Given the description of an element on the screen output the (x, y) to click on. 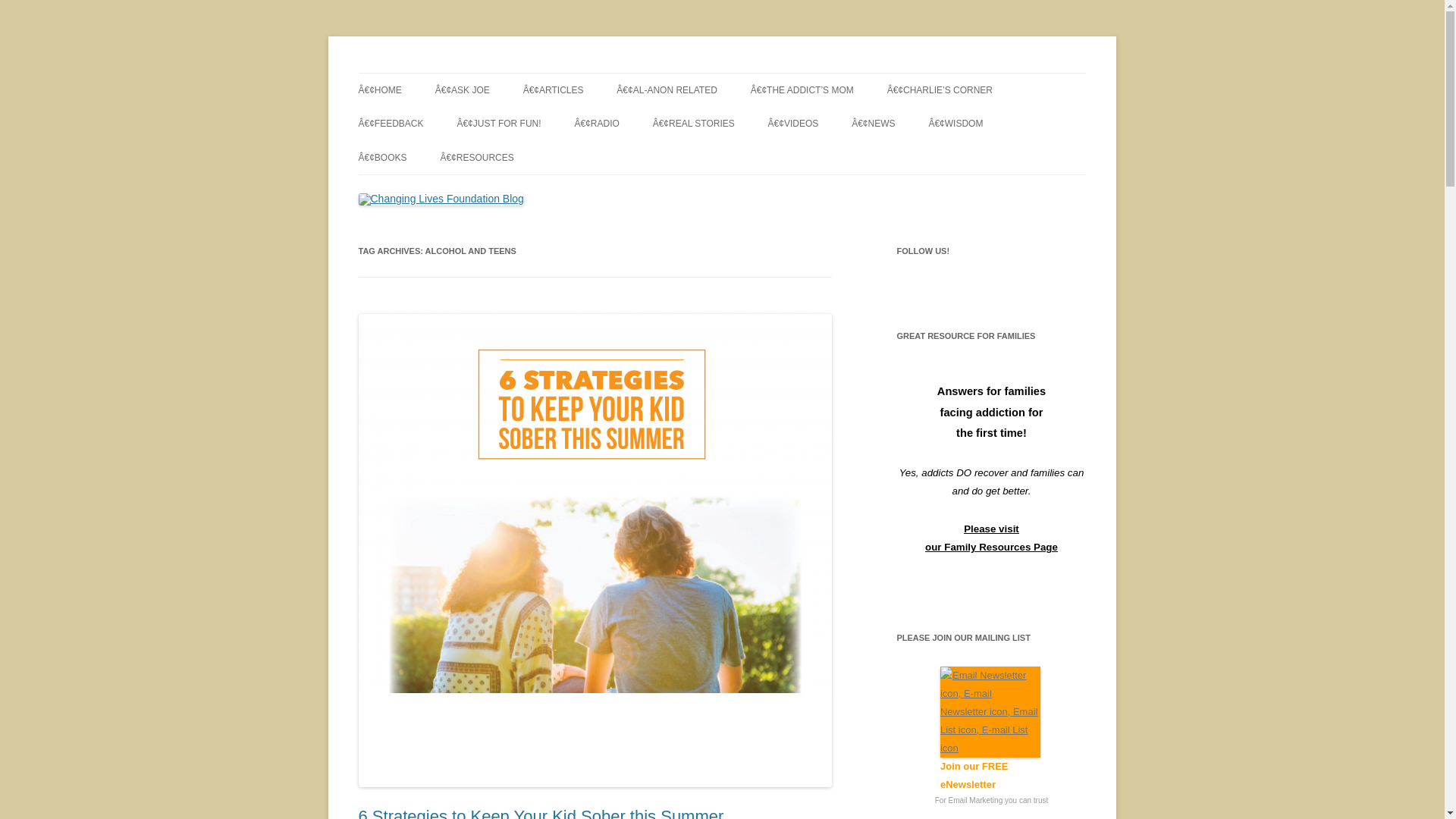
6 Strategies to Keep Your Kid Sober this Summer (540, 812)
Changing Lives Foundation Blog (512, 72)
Changing Lives Foundation Blog (512, 72)
